Given the description of an element on the screen output the (x, y) to click on. 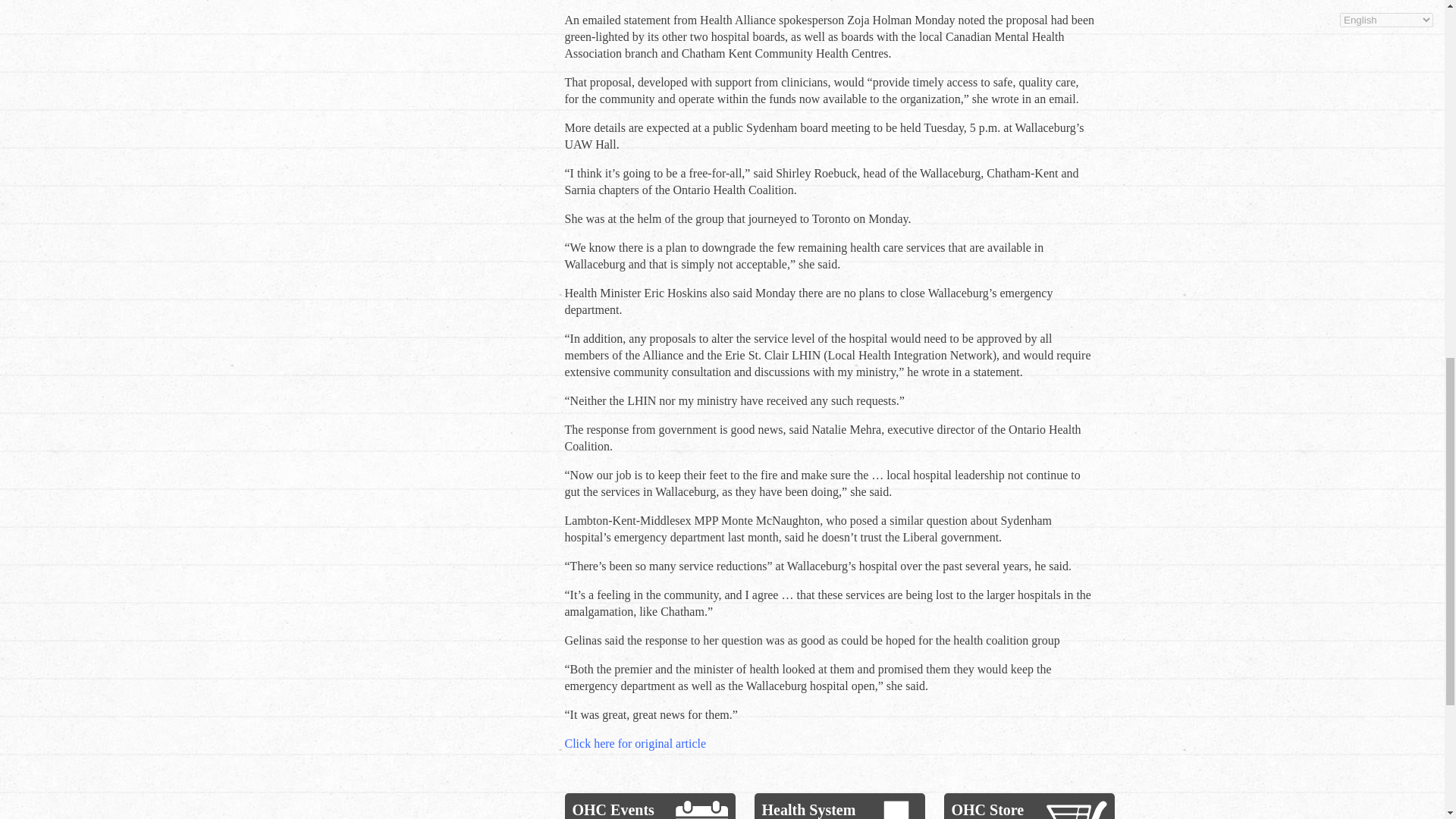
OHC Store (986, 809)
Ontario Health Coalition Store (1076, 809)
Ontario Health Coalition Events (700, 809)
OHC Events (612, 809)
Click here for original article (635, 743)
